Given the description of an element on the screen output the (x, y) to click on. 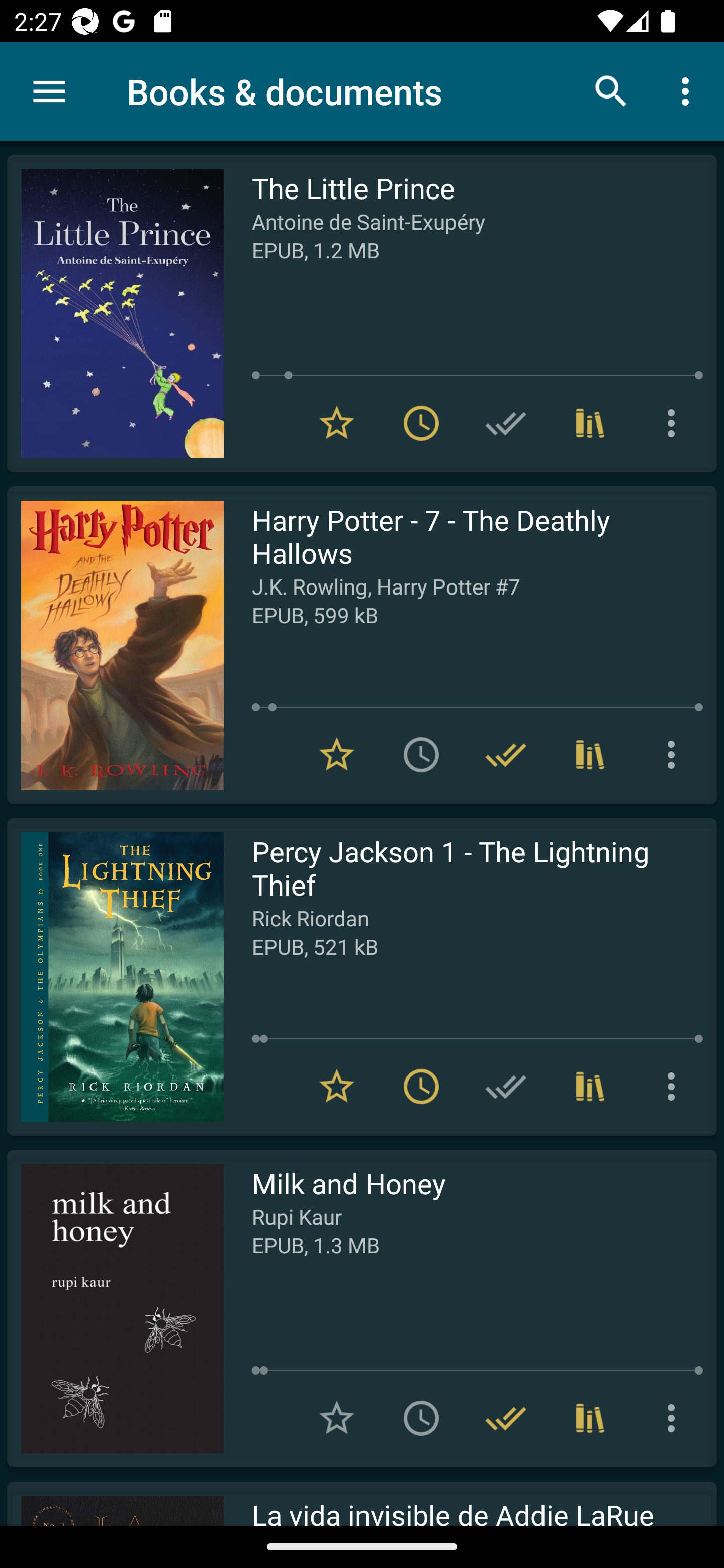
Menu (49, 91)
Search books & documents (611, 90)
More options (688, 90)
Read The Little Prince (115, 313)
Remove from Favorites (336, 423)
Remove from To read (421, 423)
Add to Have read (505, 423)
Collections (1) (590, 423)
More options (674, 423)
Read Harry Potter - 7 - The Deathly Hallows (115, 645)
Remove from Favorites (336, 753)
Add to To read (421, 753)
Remove from Have read (505, 753)
Collections (3) (590, 753)
More options (674, 753)
Read Percy Jackson 1 - The Lightning Thief (115, 976)
Remove from Favorites (336, 1086)
Remove from To read (421, 1086)
Add to Have read (505, 1086)
Collections (1) (590, 1086)
More options (674, 1086)
Read Milk and Honey (115, 1308)
Add to Favorites (336, 1417)
Add to To read (421, 1417)
Remove from Have read (505, 1417)
Collections (4) (590, 1417)
More options (674, 1417)
